Given the description of an element on the screen output the (x, y) to click on. 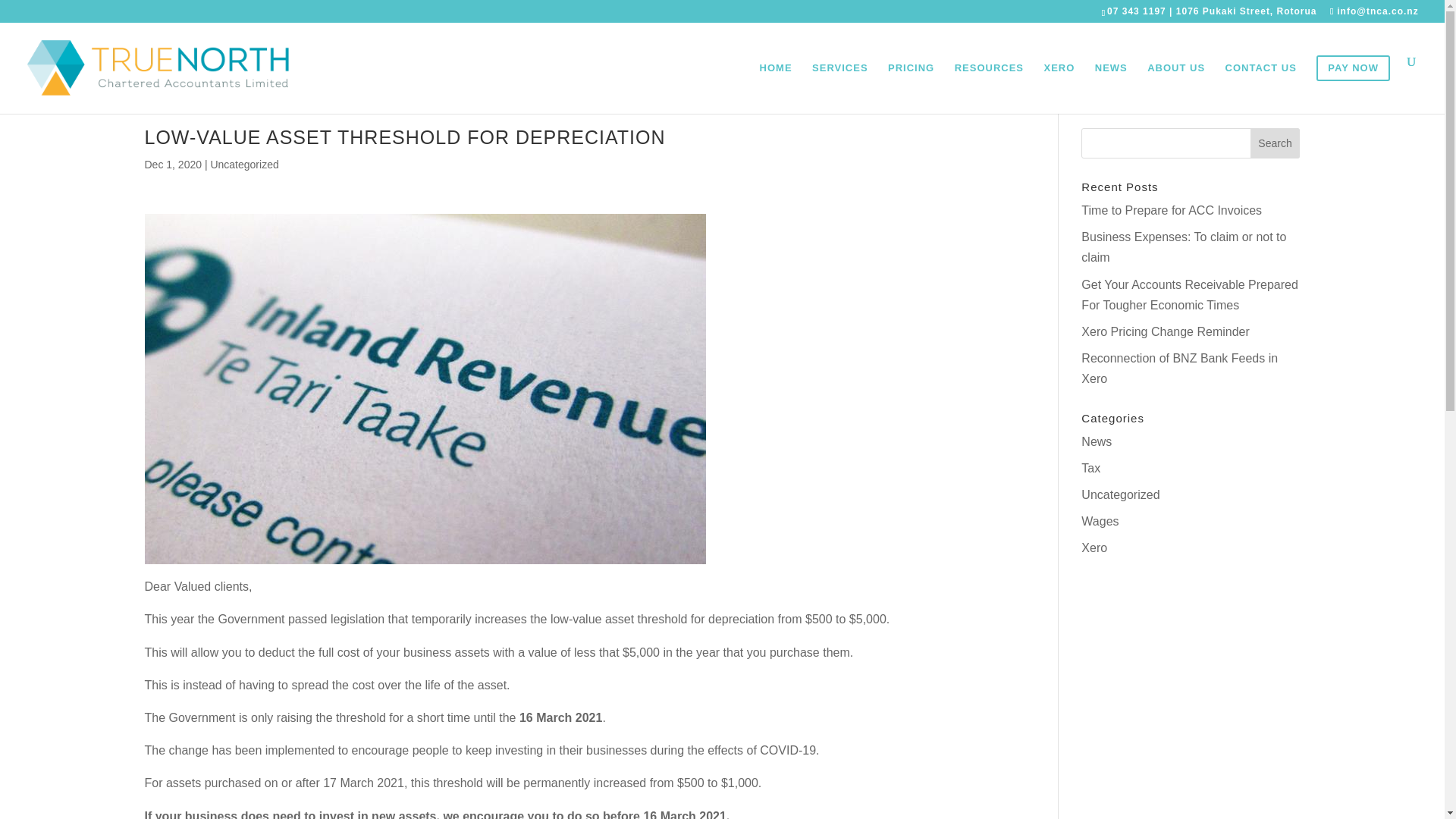
Business Expenses: To claim or not to claim (1183, 246)
Xero Pricing Change Reminder (1165, 331)
Reconnection of BNZ Bank Feeds in Xero (1179, 368)
PAY NOW (1353, 84)
ABOUT US (1176, 84)
Wages (1099, 521)
News (1096, 440)
Uncategorized (1119, 494)
Uncategorized (243, 164)
